Given the description of an element on the screen output the (x, y) to click on. 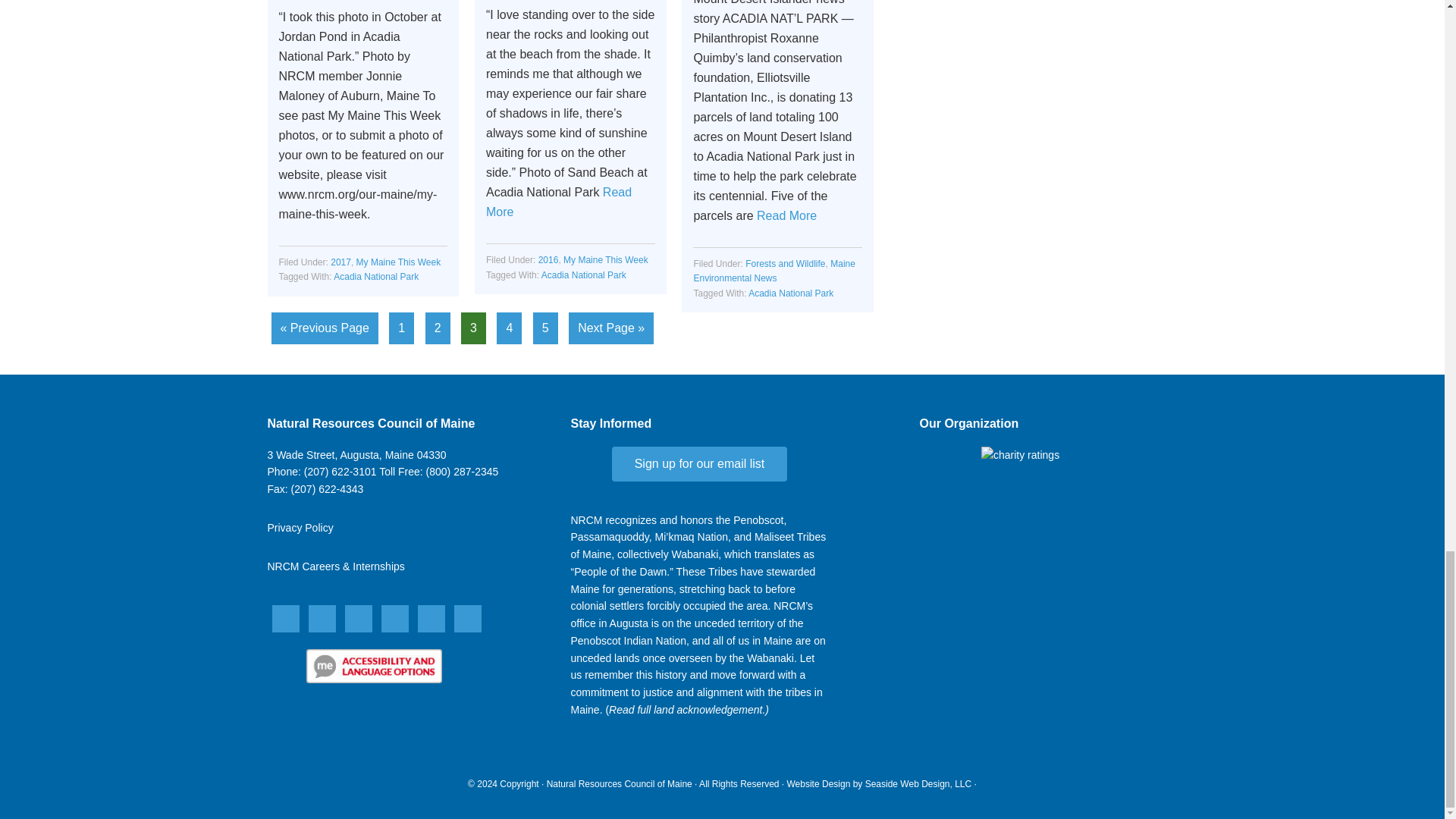
Contact Us (355, 454)
Read More (558, 201)
Read More (786, 215)
